Given the description of an element on the screen output the (x, y) to click on. 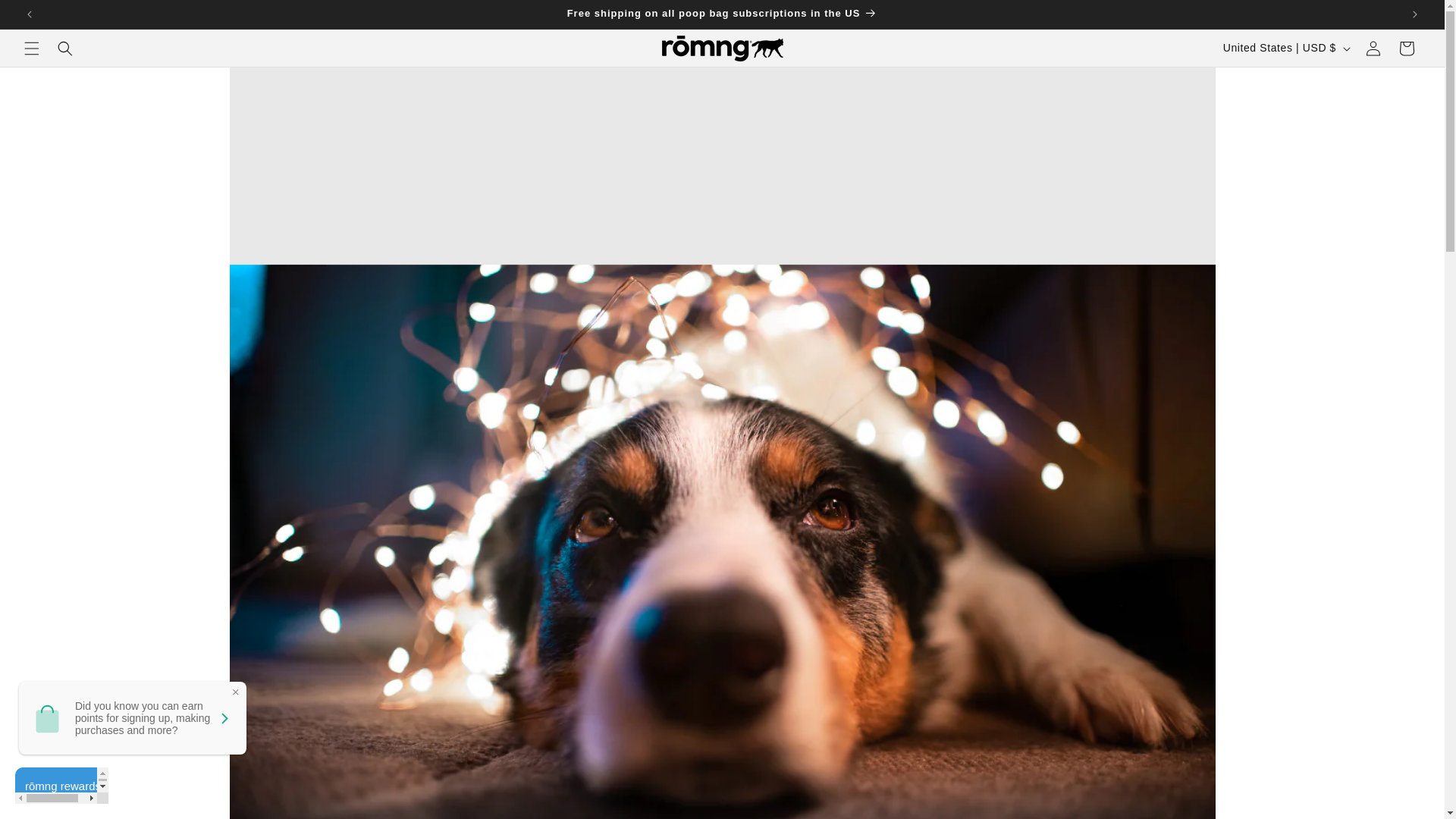
Free shipping on all poop bag subscriptions in the US (721, 14)
Log in (1373, 48)
Skip to content (45, 17)
LoyaltyLion beacon (60, 785)
Cart (1406, 48)
